Given the description of an element on the screen output the (x, y) to click on. 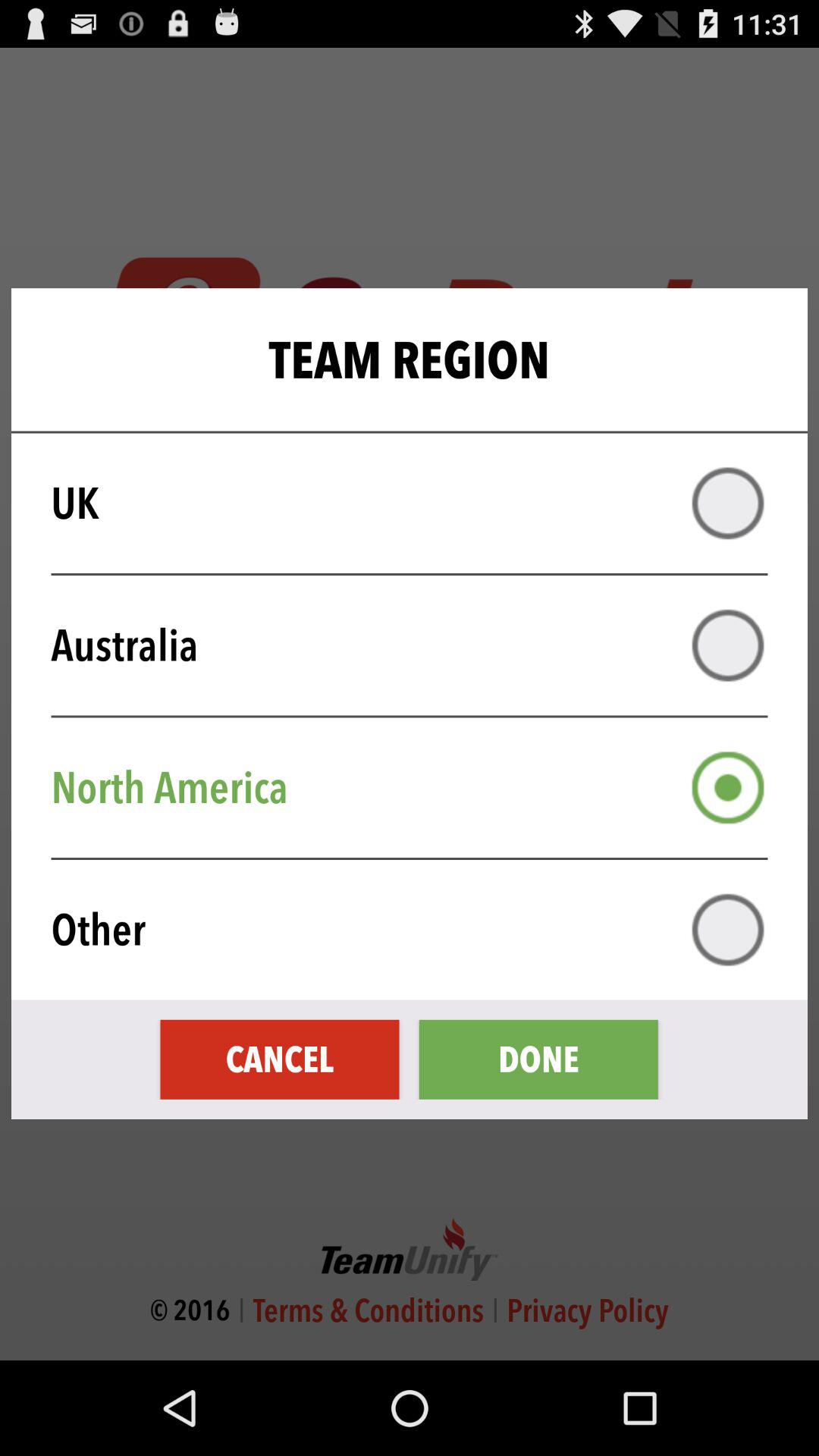
click icon above cancel (419, 929)
